Given the description of an element on the screen output the (x, y) to click on. 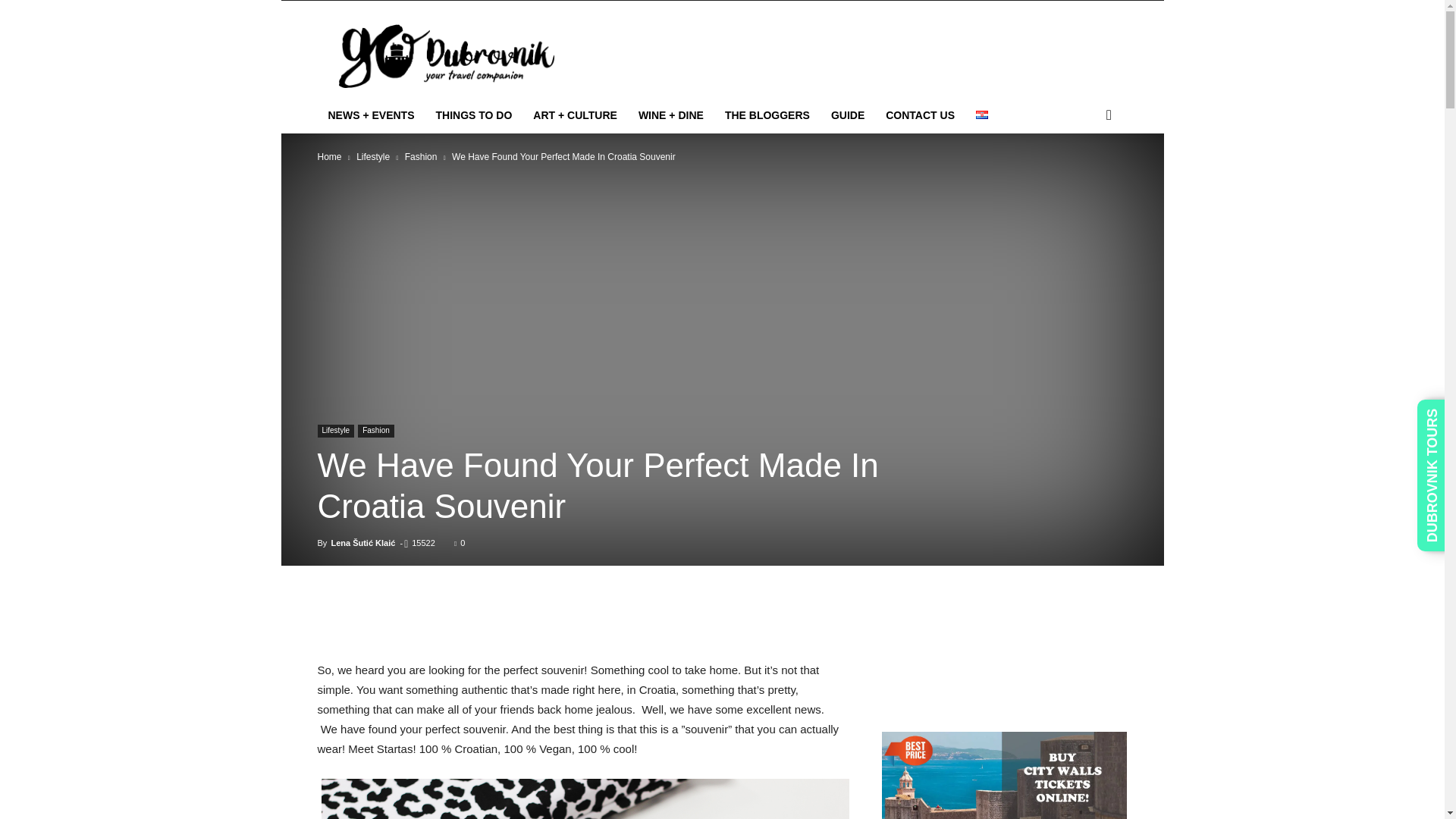
godubrovnik (445, 55)
